Given the description of an element on the screen output the (x, y) to click on. 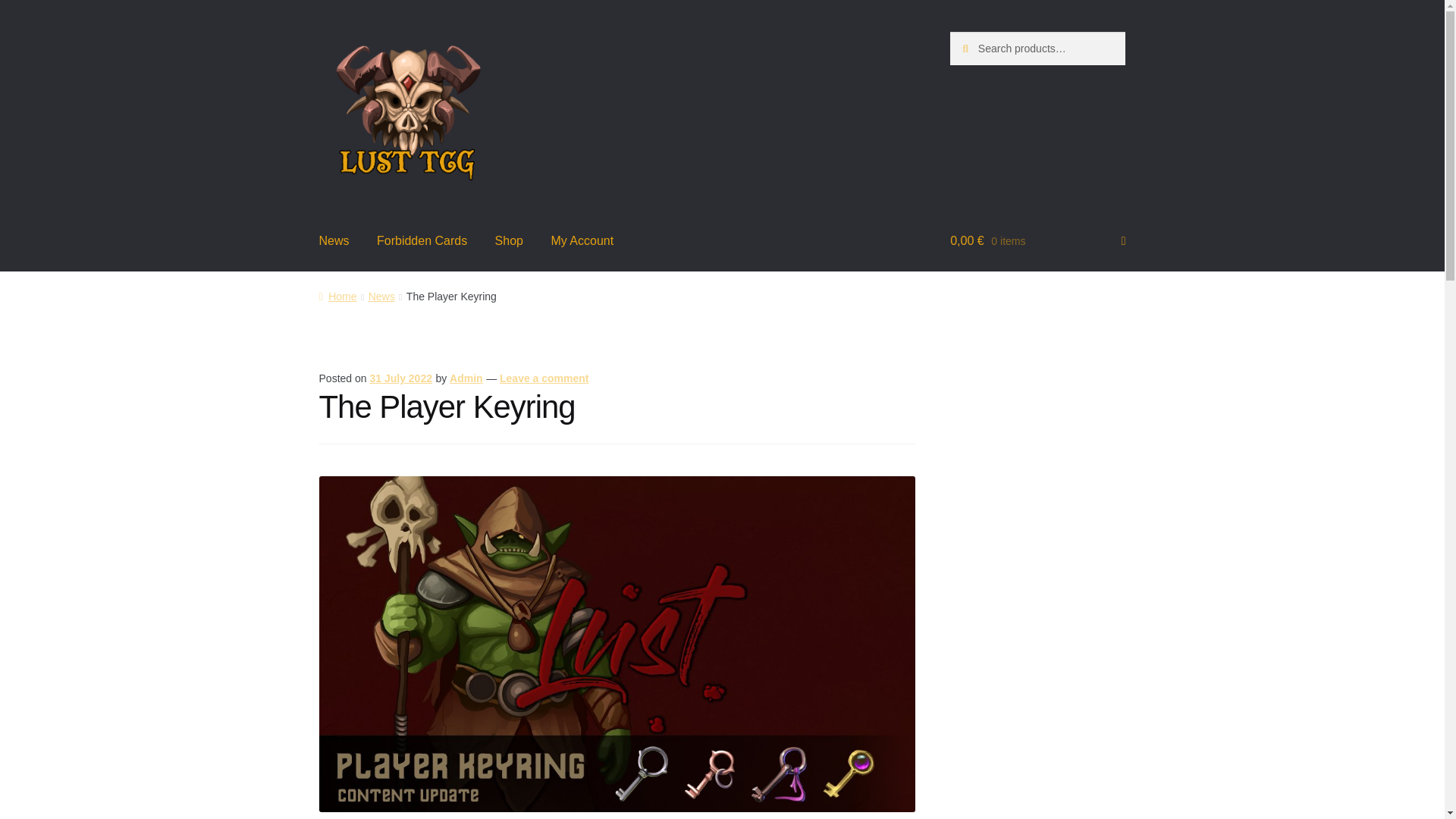
31 July 2022 (400, 378)
Forbidden Cards (422, 241)
News (334, 241)
My Account (582, 241)
News (381, 296)
Home (337, 296)
Admin (466, 378)
View your shopping basket (1037, 241)
Leave a comment (544, 378)
